Given the description of an element on the screen output the (x, y) to click on. 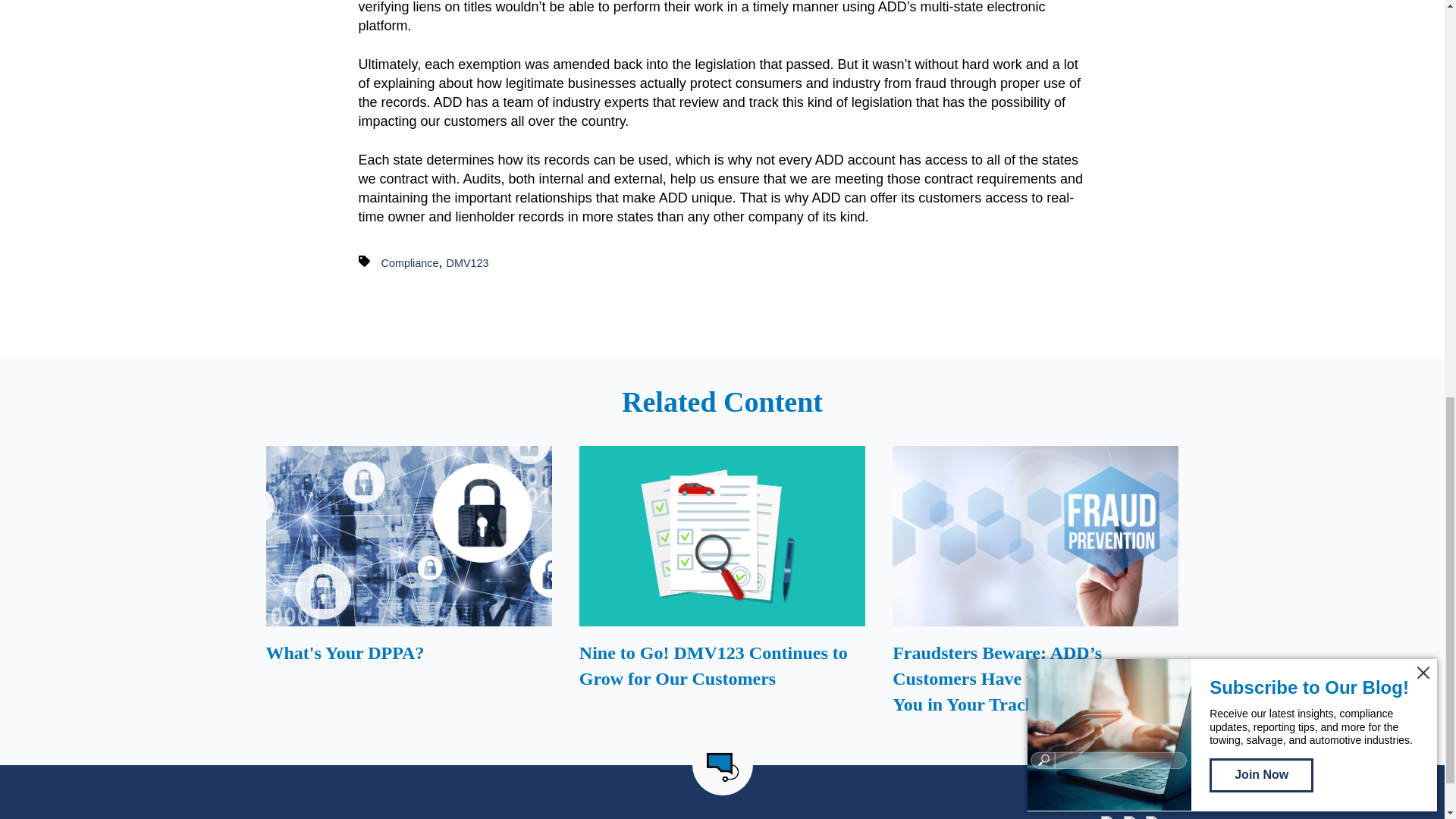
ADD-Bug (722, 767)
What's Your DPPA? (407, 584)
DMV123 (467, 263)
Nine to Go! DMV123 Continues to Grow for Our Customers (722, 584)
Terms of Use (759, 818)
Privacy Policy (686, 818)
Compliance (410, 263)
